Given the description of an element on the screen output the (x, y) to click on. 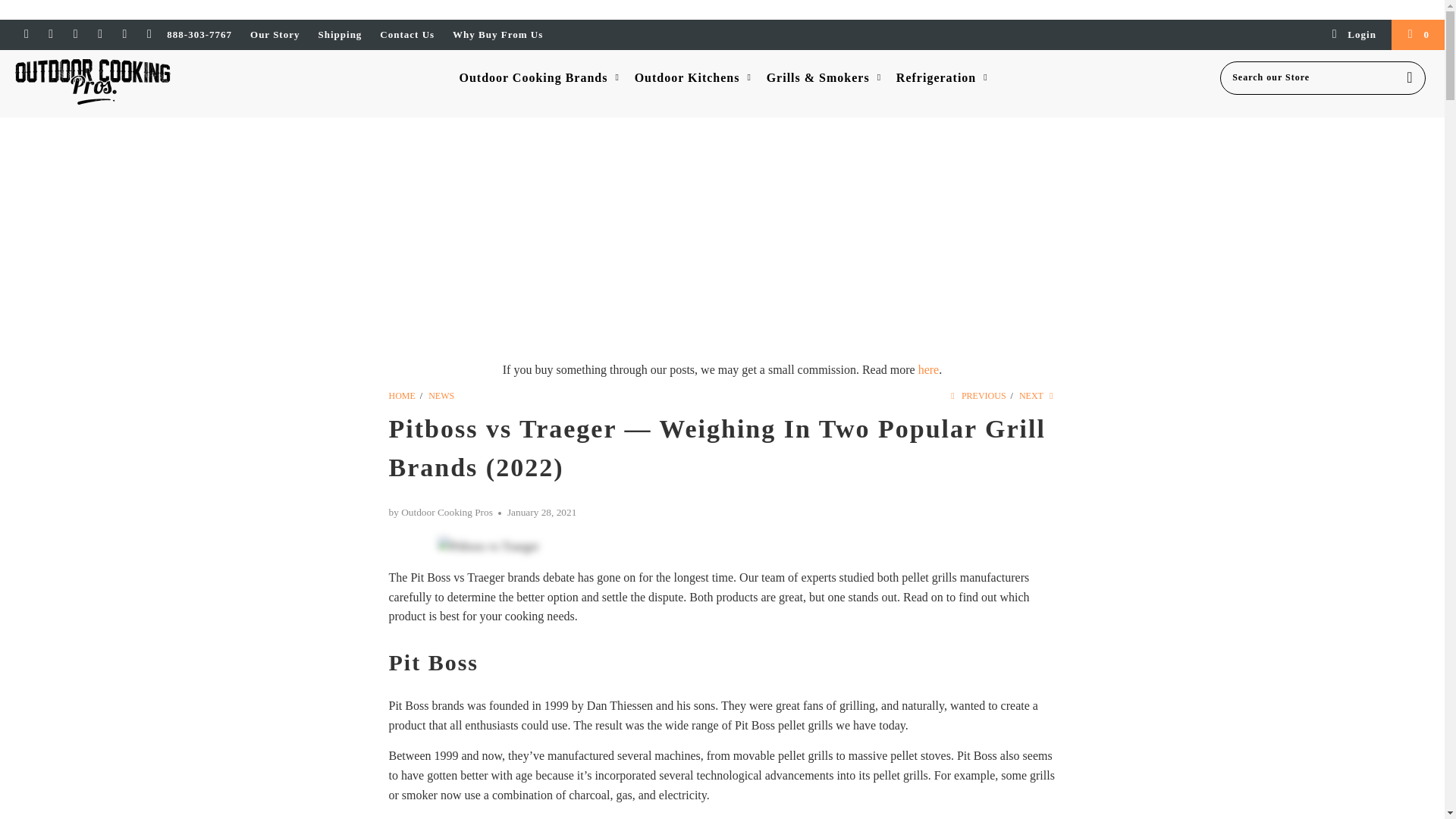
My Account  (1353, 34)
Email Outdoor Cooking Pros (148, 34)
Outdoor Cooking Pros on Facebook (49, 34)
Outdoor Cooking Pros on Pinterest (74, 34)
Outdoor Cooking Pros (401, 395)
Outdoor Cooking Pros (122, 83)
Outdoor Cooking Pros on Twitter (25, 34)
Outdoor Cooking Pros on Instagram (99, 34)
Outdoor Cooking Pros on Houzz (124, 34)
News (441, 395)
